Given the description of an element on the screen output the (x, y) to click on. 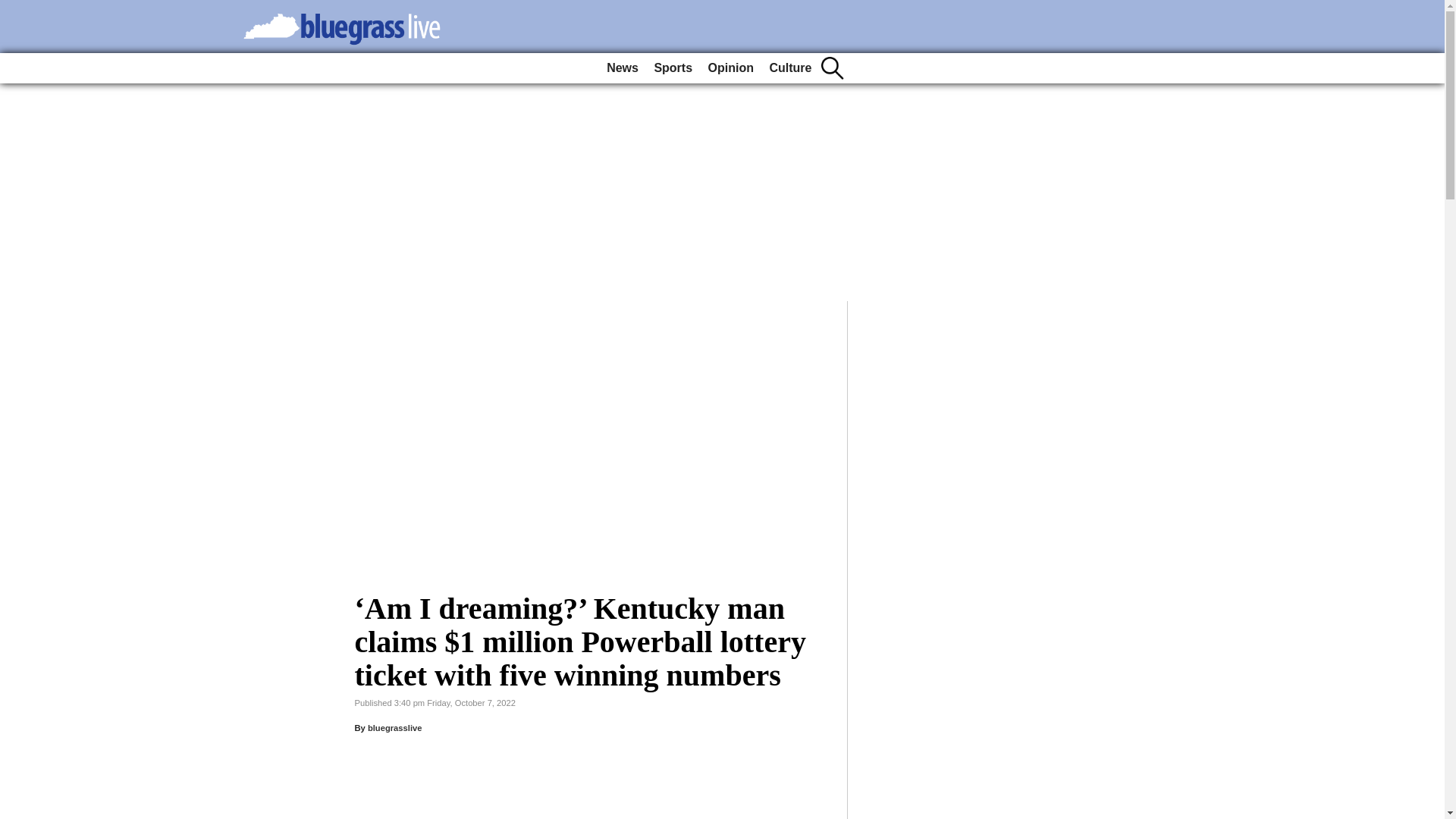
Go (13, 9)
News (622, 68)
bluegrasslive (395, 727)
Sports (672, 68)
Culture (789, 68)
Opinion (730, 68)
